Given the description of an element on the screen output the (x, y) to click on. 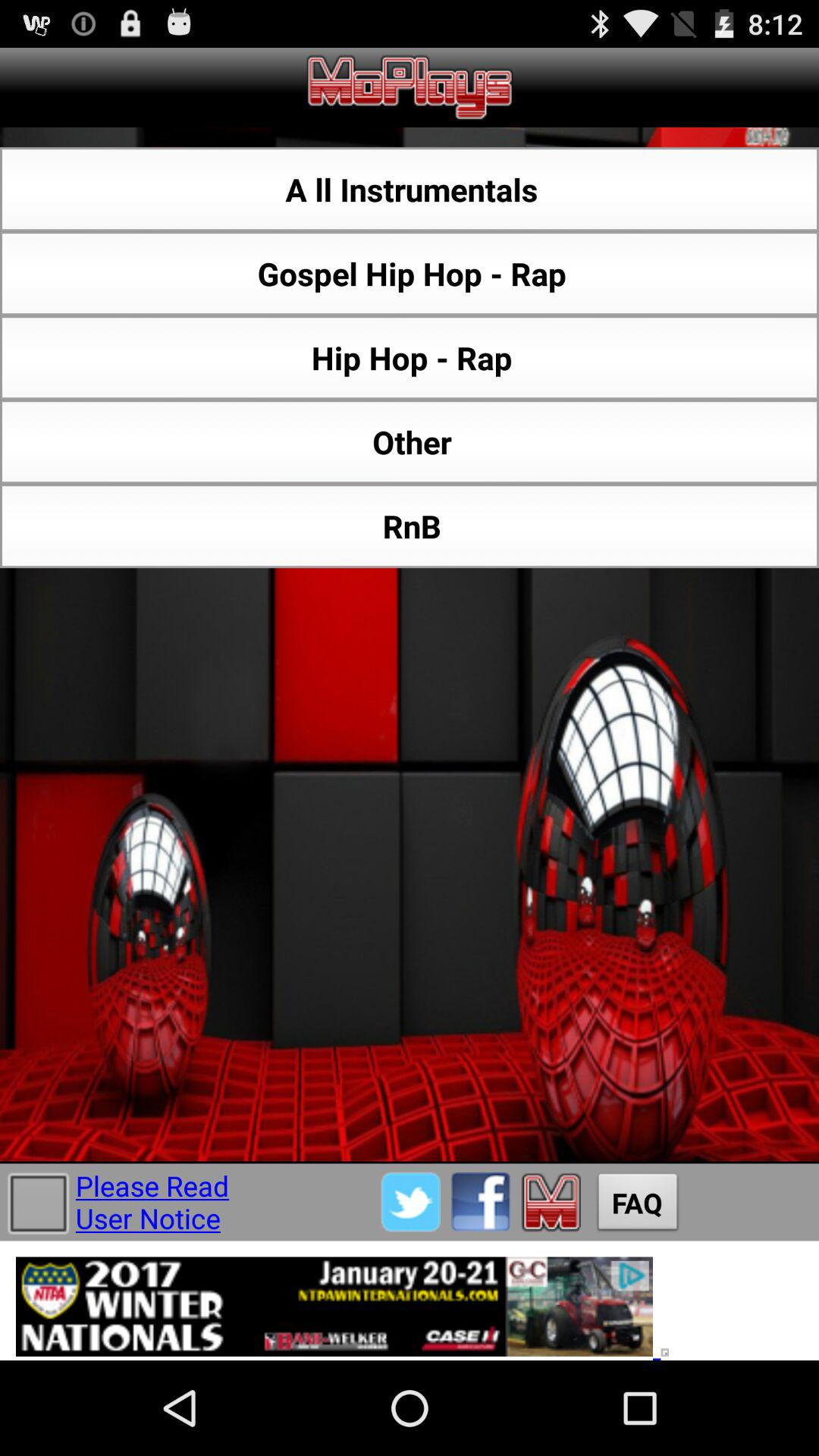
faceboo (480, 1201)
